Given the description of an element on the screen output the (x, y) to click on. 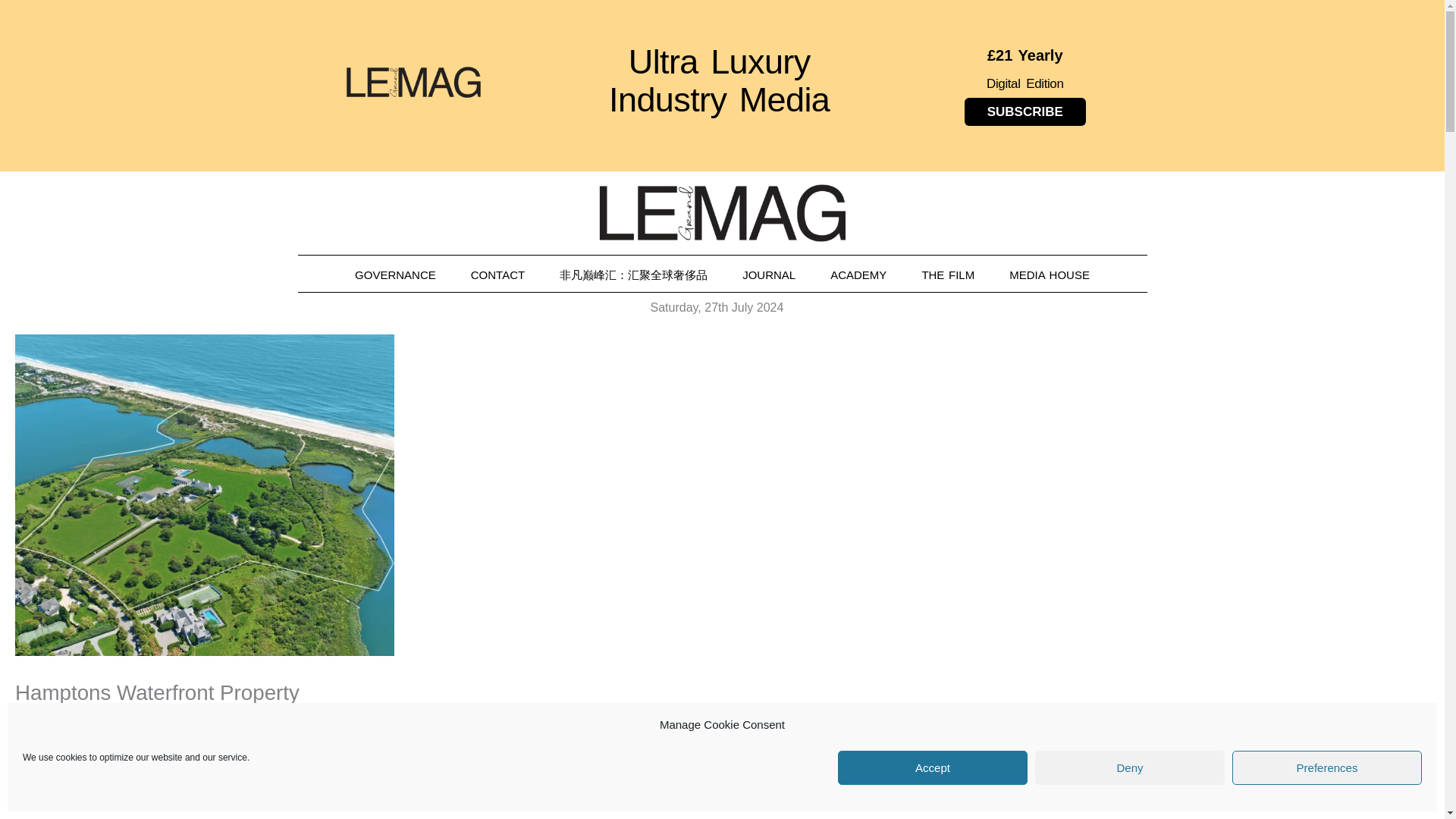
Accept (932, 767)
MEDIA HOUSE (1049, 274)
THE FILM (947, 274)
ACADEMY (857, 274)
CONTACT (497, 274)
Preferences (1326, 767)
SUBSCRIBE (1024, 111)
JOURNAL (769, 274)
Deny (1129, 767)
GOVERNANCE (394, 274)
